Given the description of an element on the screen output the (x, y) to click on. 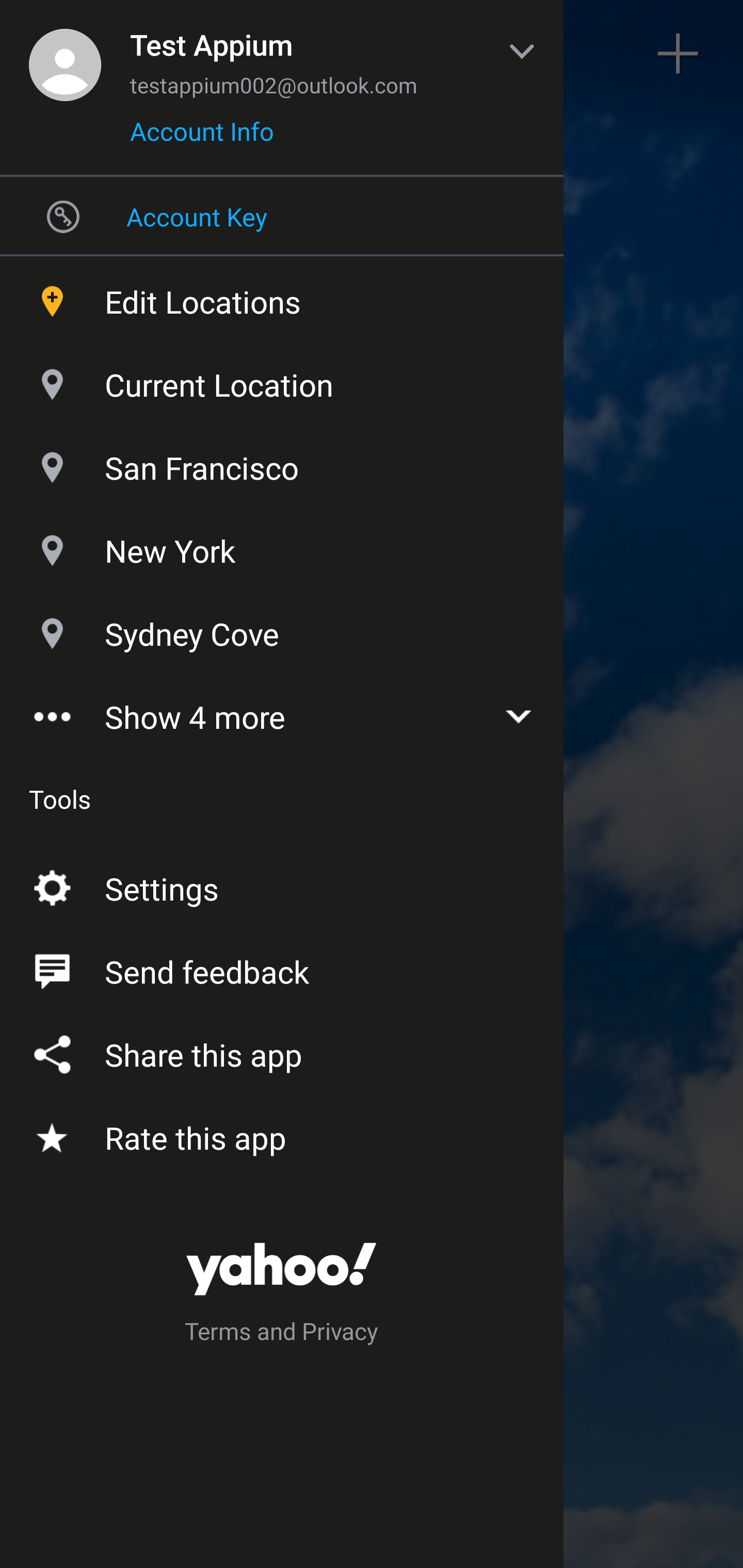
Sidebar (64, 54)
Account Info (202, 137)
Account Key (281, 216)
Edit Locations (281, 296)
Current Location (281, 379)
San Francisco (281, 462)
New York (281, 546)
Sydney Cove (281, 629)
Settings (281, 884)
Send feedback (281, 967)
Share this app (281, 1050)
Terms and Privacy Terms and privacy button (281, 1334)
